Given the description of an element on the screen output the (x, y) to click on. 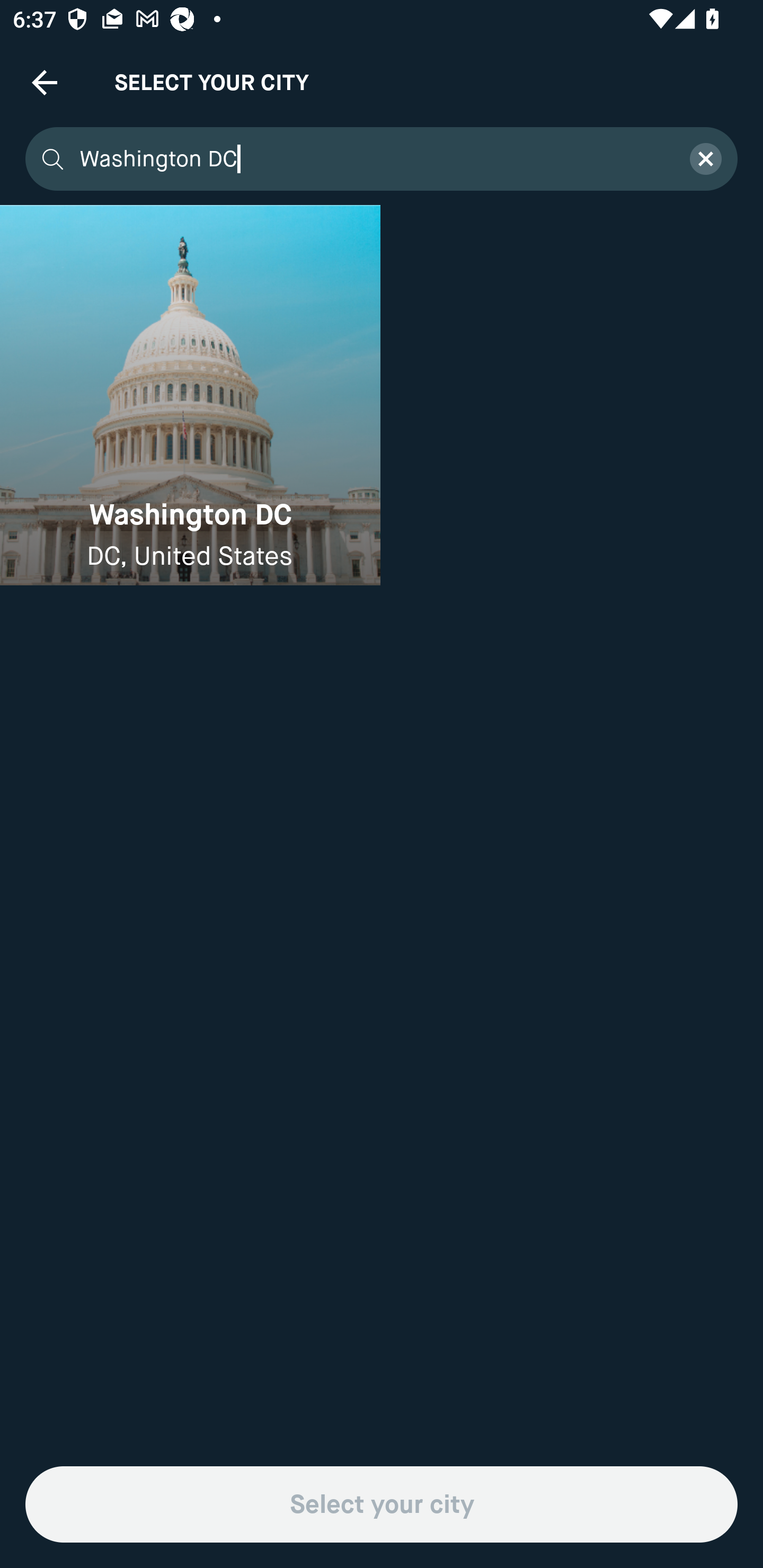
Navigate up (44, 82)
Washington DC (373, 159)
Washington DC DC, United States (190, 394)
Select your city (381, 1504)
